Given the description of an element on the screen output the (x, y) to click on. 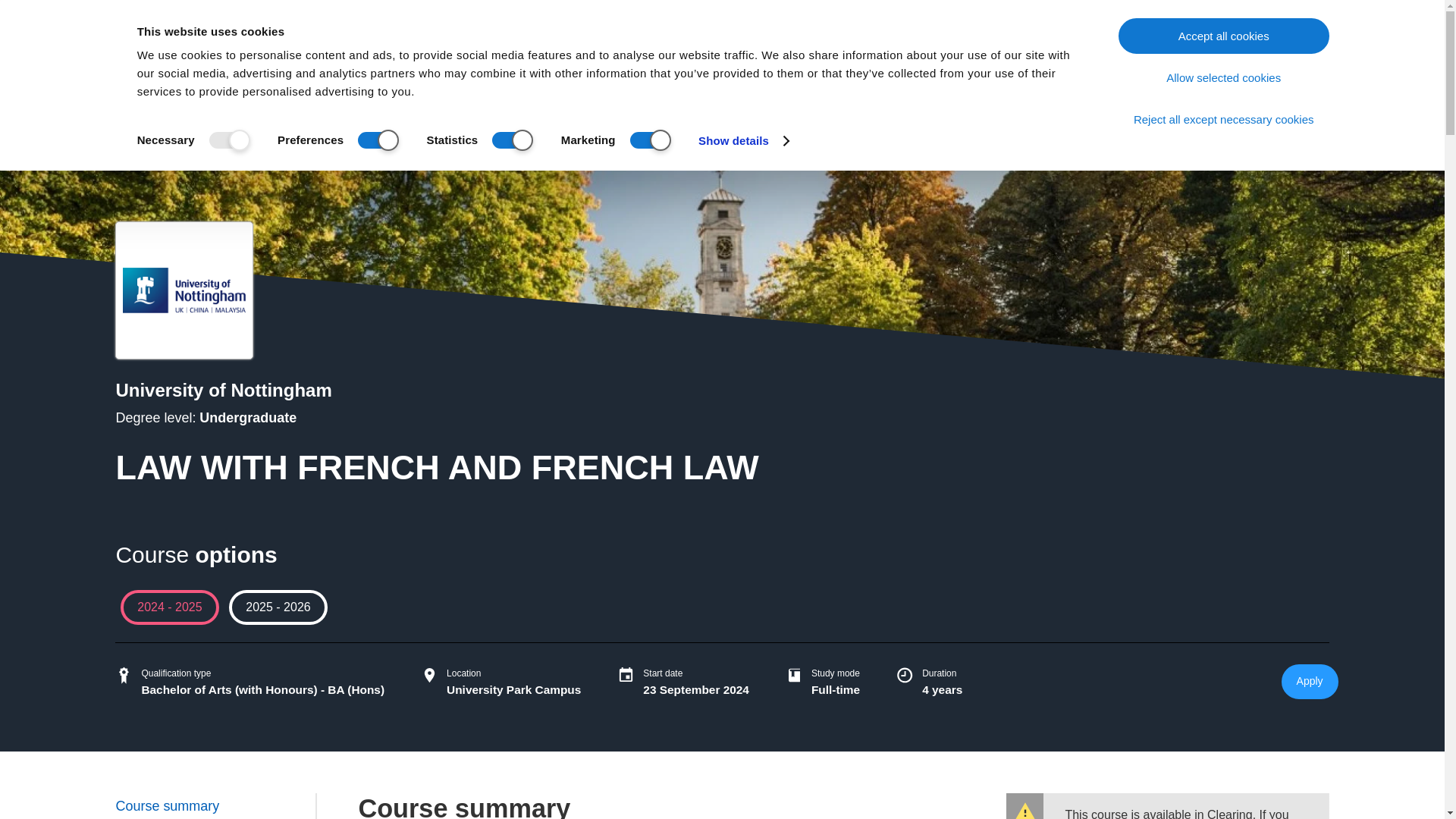
Show details (742, 140)
